Given the description of an element on the screen output the (x, y) to click on. 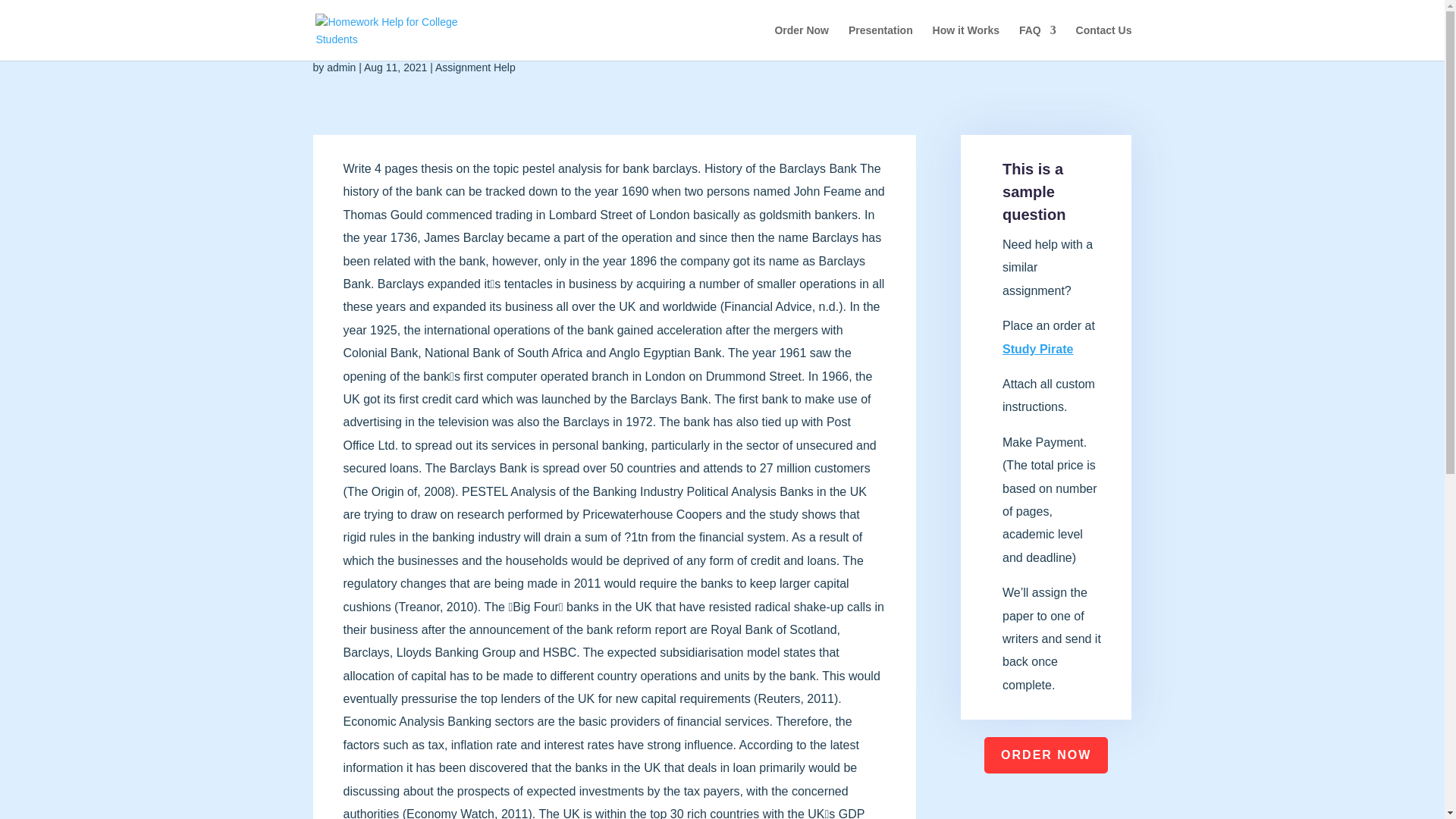
FAQ (1038, 42)
How it Works (965, 42)
Order Now (801, 42)
This is a sample question (1034, 191)
ORDER NOW (1046, 755)
Assignment Help (475, 67)
Presentation (880, 42)
Contact Us (1103, 42)
Study Pirate (1038, 349)
Posts by admin (340, 67)
